Given the description of an element on the screen output the (x, y) to click on. 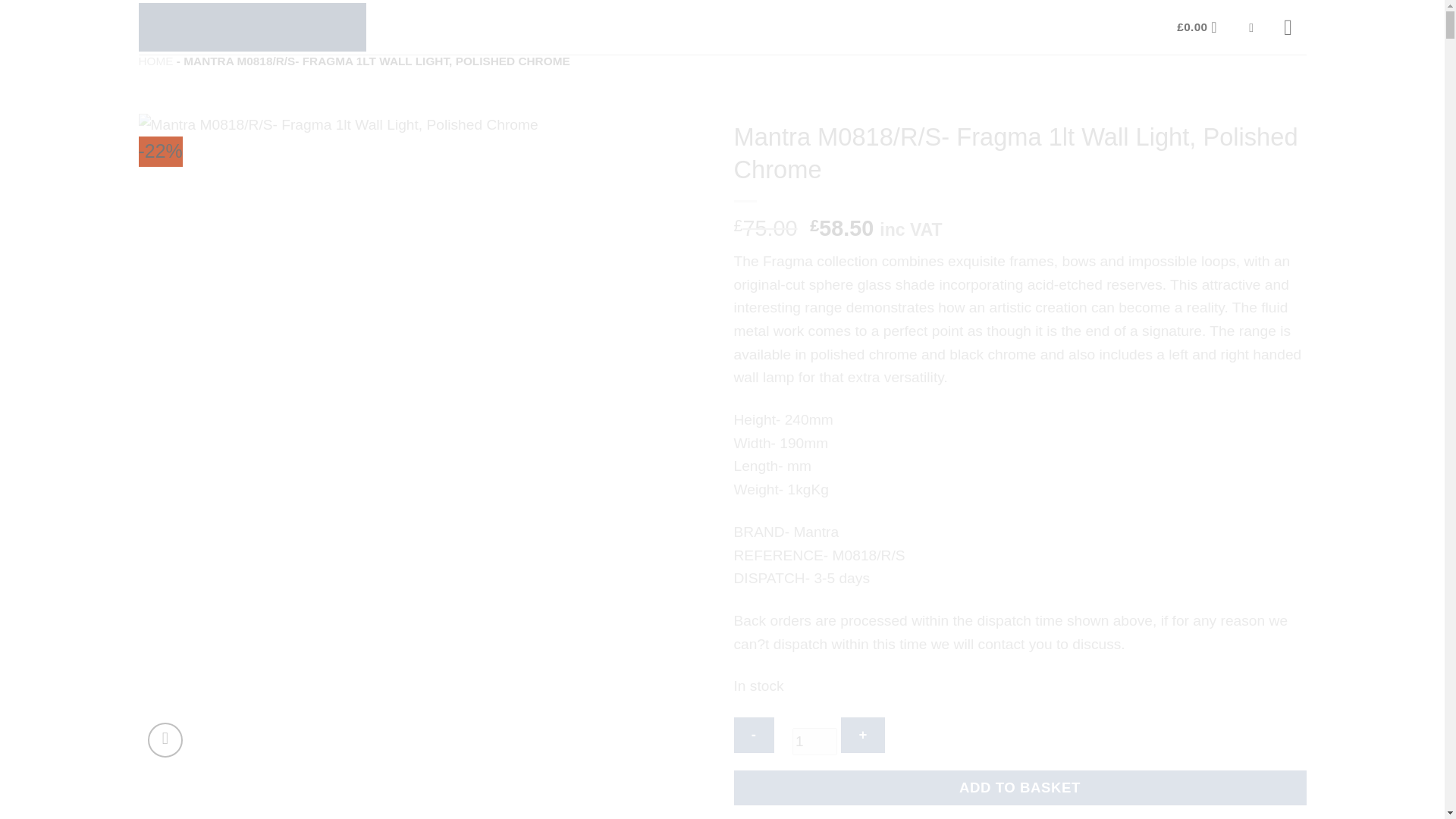
1 (814, 741)
HOME (155, 60)
Basket (1200, 27)
- (753, 734)
ADD TO BASKET (1019, 787)
Zoom (165, 740)
